Given the description of an element on the screen output the (x, y) to click on. 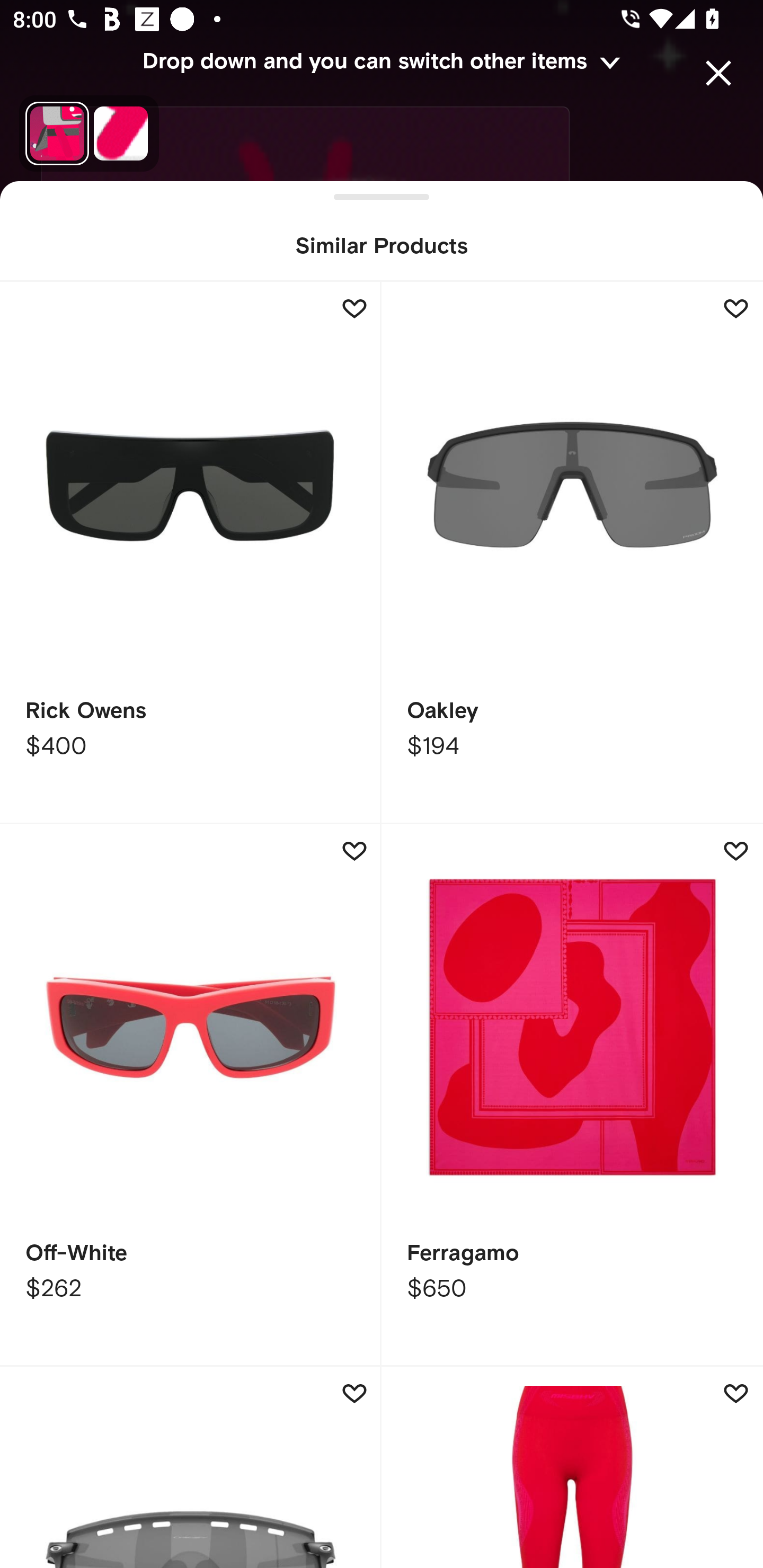
Rick Owens $400 (190, 553)
Oakley $194 (572, 553)
Off-White $262 (190, 1095)
Ferragamo $650 (572, 1095)
